Given the description of an element on the screen output the (x, y) to click on. 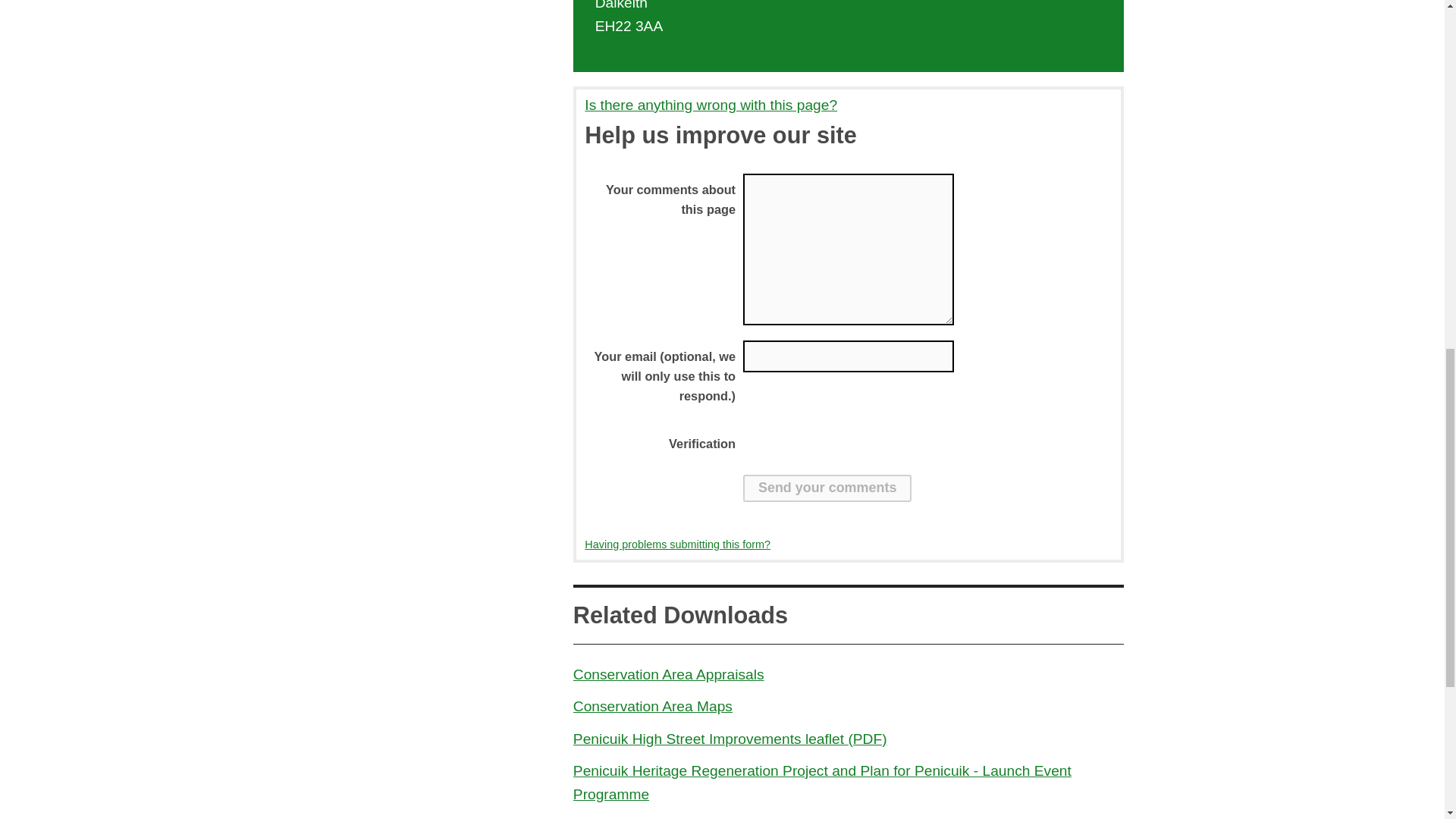
Maps showing the boundaries of various Conservation Areas. (652, 706)
Conservation Area Maps (652, 706)
Send your comments (826, 488)
Please add a comment before pressing send (847, 249)
Having problems submitting this form? (677, 544)
Conservation Area Appraisals (668, 674)
Send your comments (826, 488)
Is there anything wrong with this page? (848, 105)
